Given the description of an element on the screen output the (x, y) to click on. 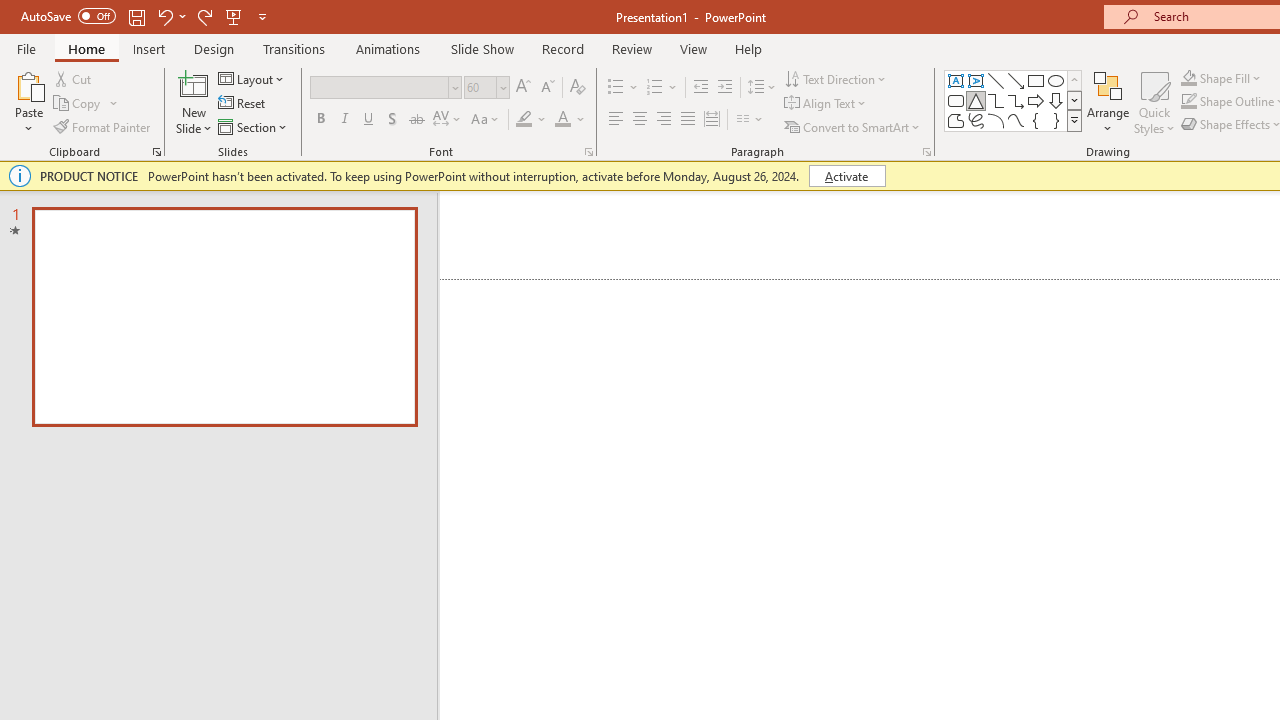
Section (254, 126)
Connector: Elbow (995, 100)
Freeform: Shape (955, 120)
Layout (252, 78)
Right Brace (1055, 120)
Font Size (480, 87)
Align Text (826, 103)
Increase Indent (725, 87)
Paste (28, 84)
Align Left (616, 119)
Font... (588, 151)
Office Clipboard... (156, 151)
